Given the description of an element on the screen output the (x, y) to click on. 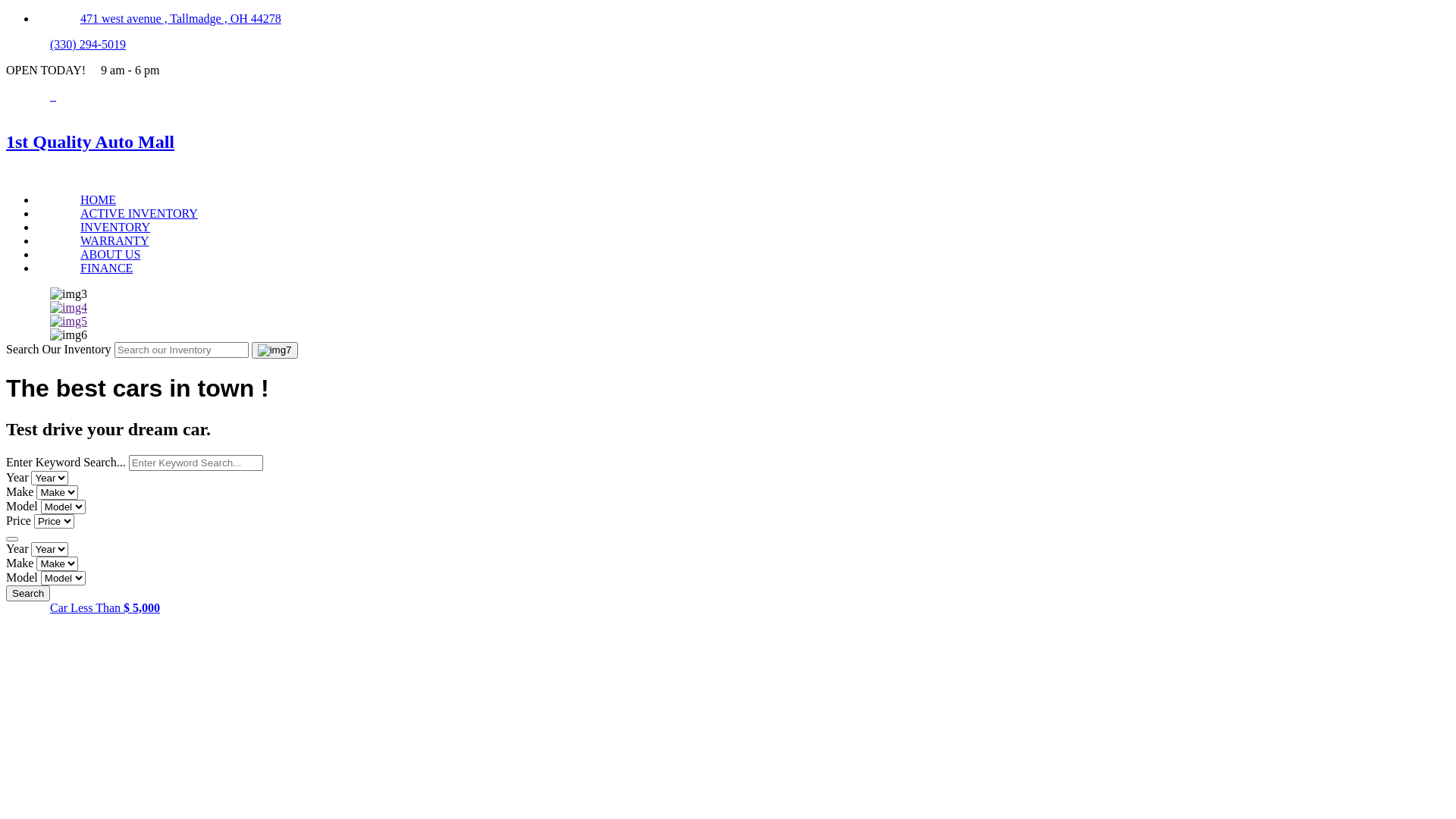
ACTIVE INVENTORY Element type: text (138, 213)
WARRANTY Element type: text (114, 240)
Search Element type: text (28, 593)
ABOUT US Element type: text (110, 254)
HOME Element type: text (97, 199)
_ Element type: text (53, 95)
FINANCE Element type: text (106, 267)
1st Quality Auto Mall Element type: text (727, 141)
Car Less Than $ 5,000 Element type: text (104, 607)
INVENTORY Element type: text (115, 226)
(330) 294-5019 Element type: text (87, 44)
